Given the description of an element on the screen output the (x, y) to click on. 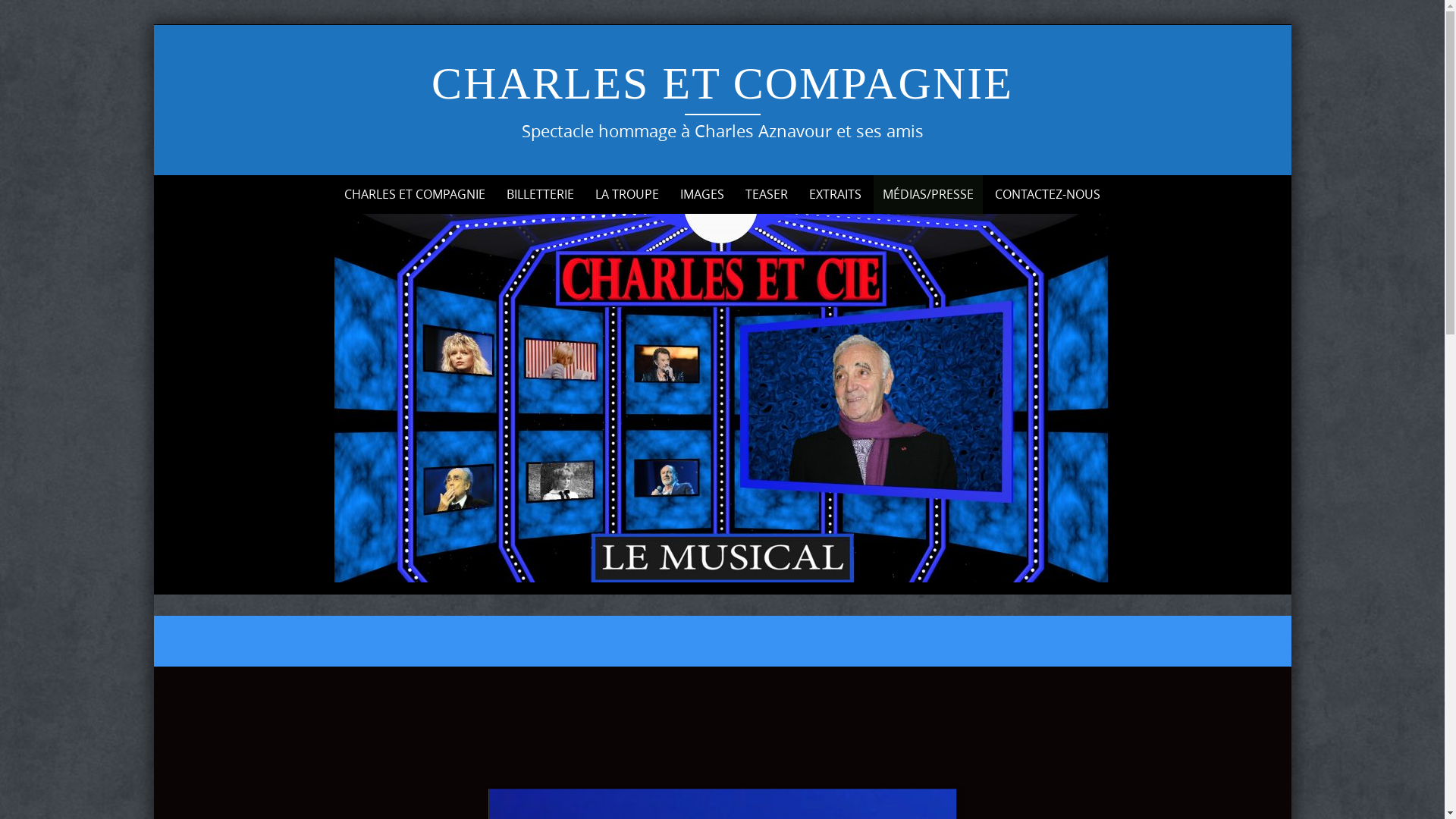
Skip to content Element type: text (274, 174)
EXTRAITS Element type: text (835, 194)
IMAGES Element type: text (702, 194)
CHARLES ET COMPAGNIE Element type: text (414, 194)
CONTACTEZ-NOUS Element type: text (1047, 194)
LA TROUPE Element type: text (627, 194)
BILLETTERIE Element type: text (540, 194)
Skip to content Element type: text (153, 24)
TEASER Element type: text (766, 194)
CHARLES ET COMPAGNIE Element type: text (722, 83)
